Given the description of an element on the screen output the (x, y) to click on. 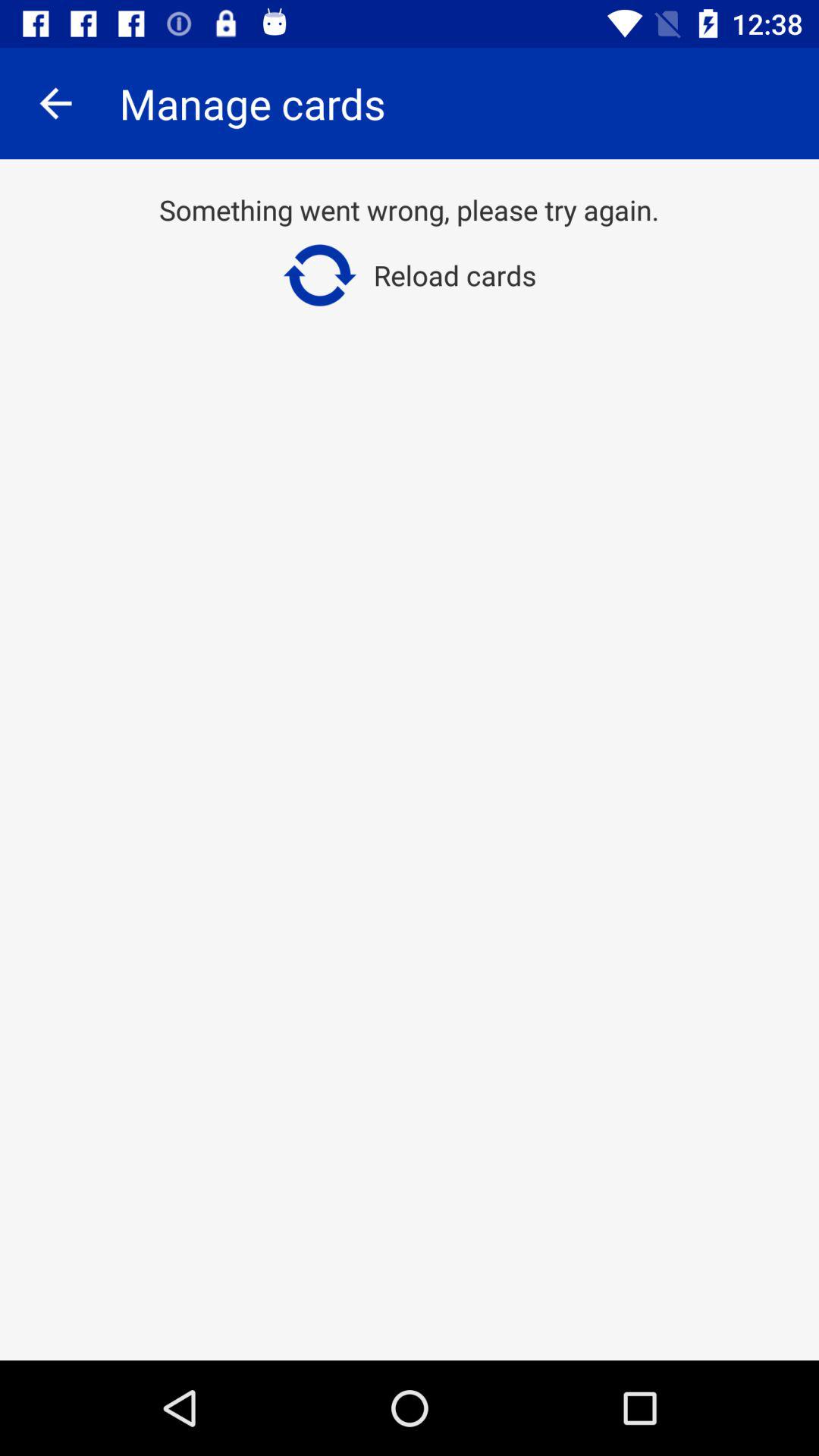
scroll until reload cards icon (409, 275)
